Given the description of an element on the screen output the (x, y) to click on. 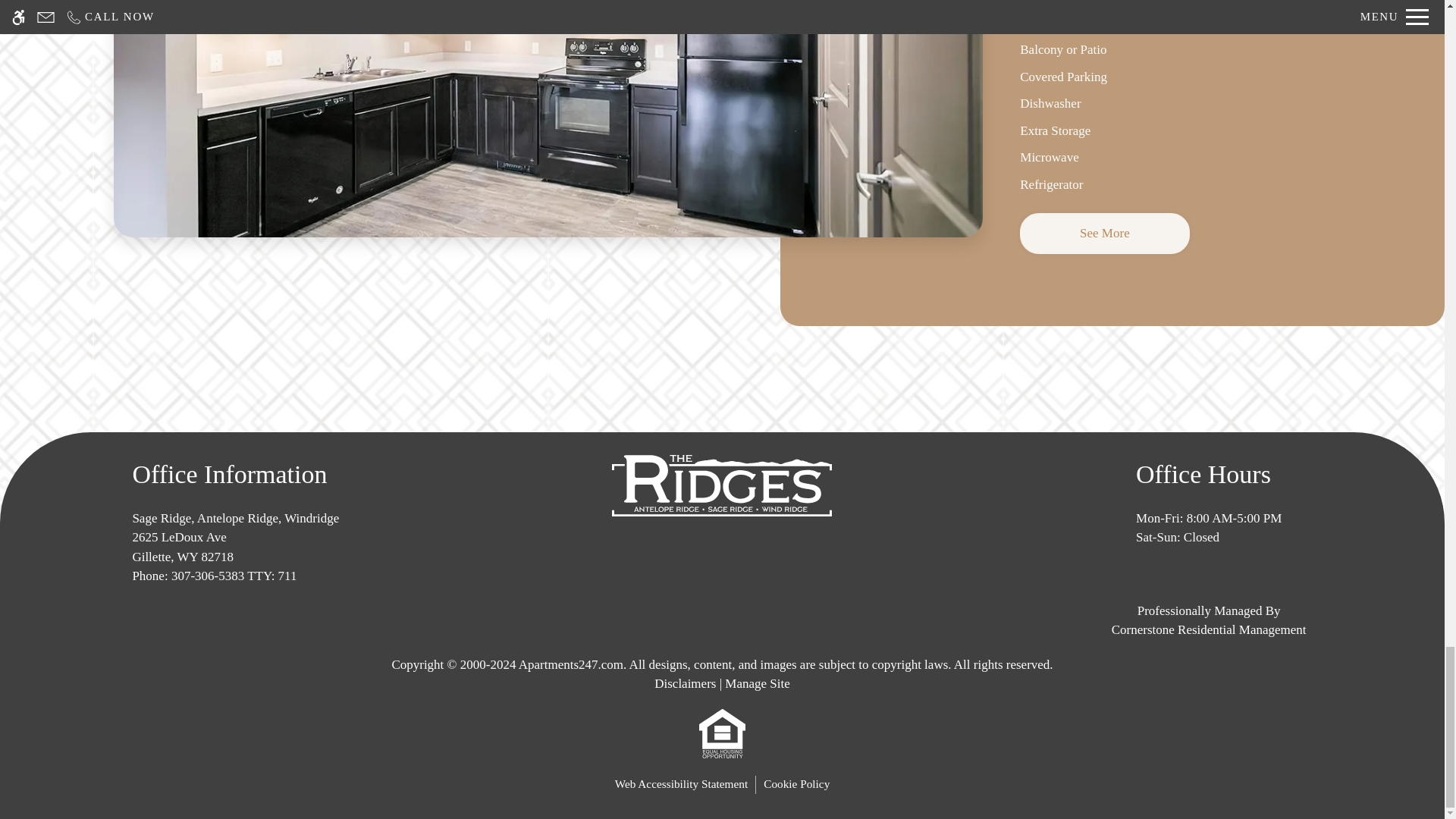
eho policy (722, 733)
Manage Site (757, 683)
Cornerstone Residential Management (1208, 620)
See More (1104, 232)
